Given the description of an element on the screen output the (x, y) to click on. 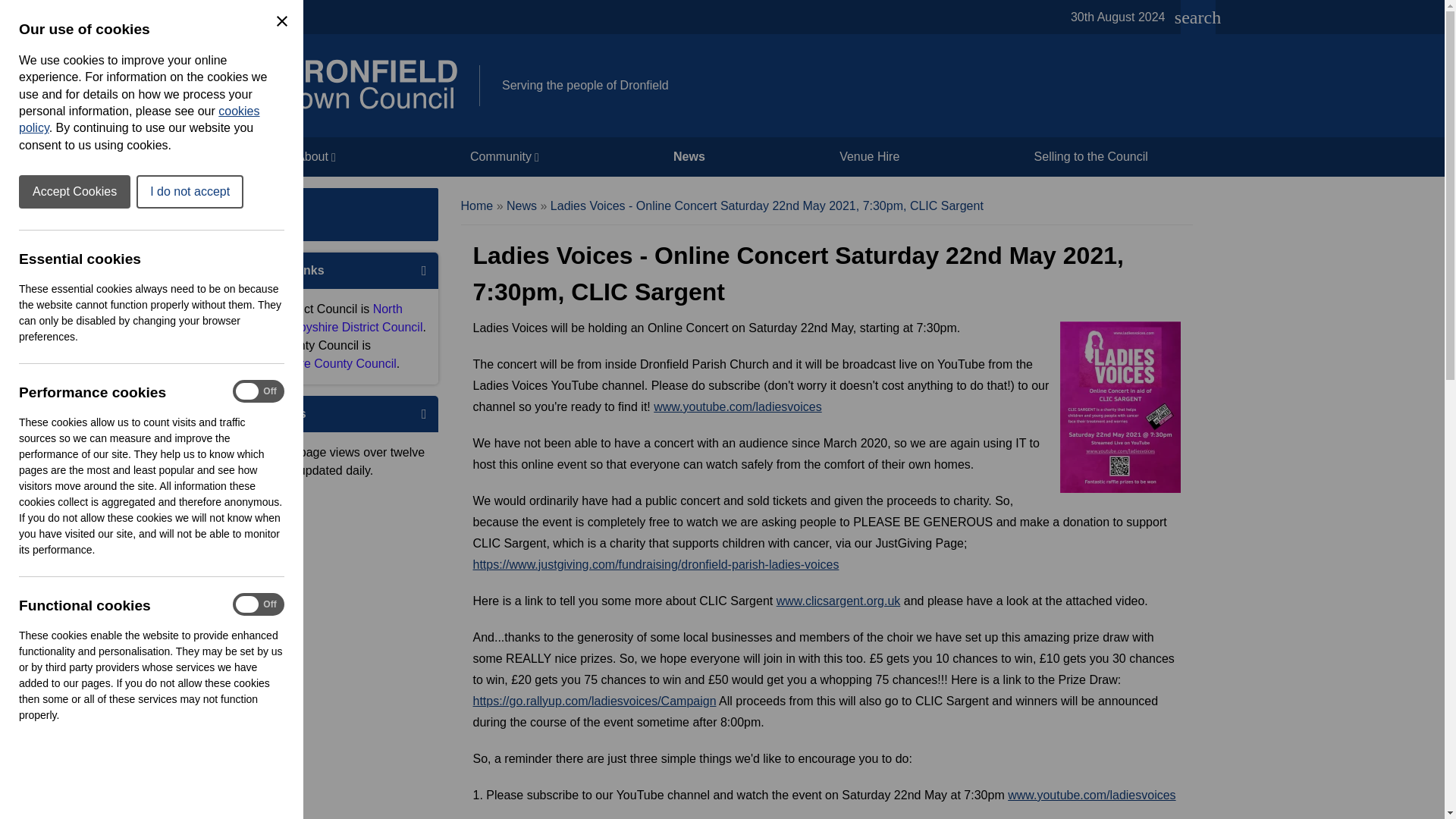
search (1196, 17)
cookies policy (139, 119)
Accept Cookies (74, 191)
I do not accept (189, 191)
